Given the description of an element on the screen output the (x, y) to click on. 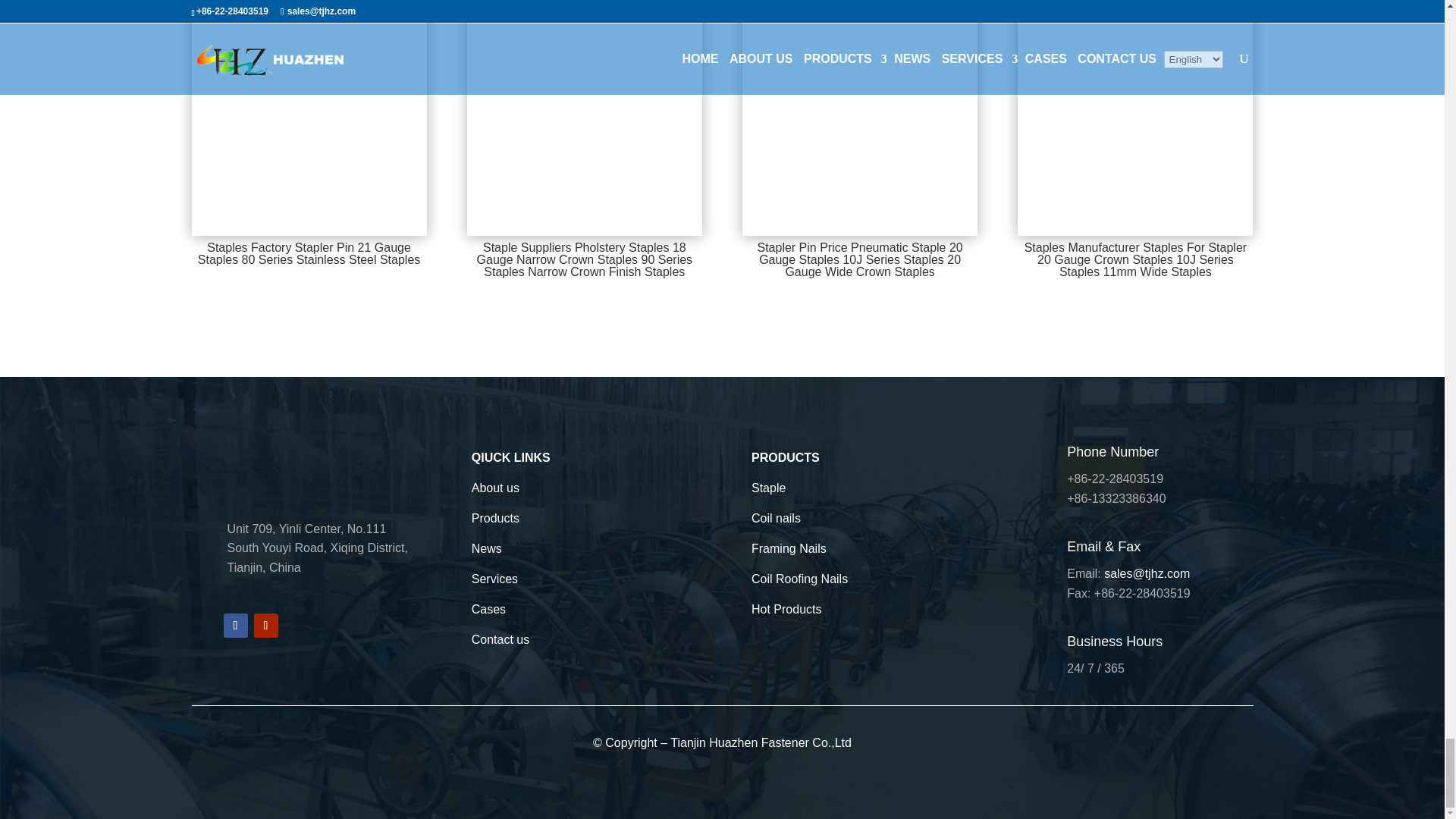
Follow on Facebook (234, 625)
Follow on Youtube (265, 625)
logo (242, 466)
